Given the description of an element on the screen output the (x, y) to click on. 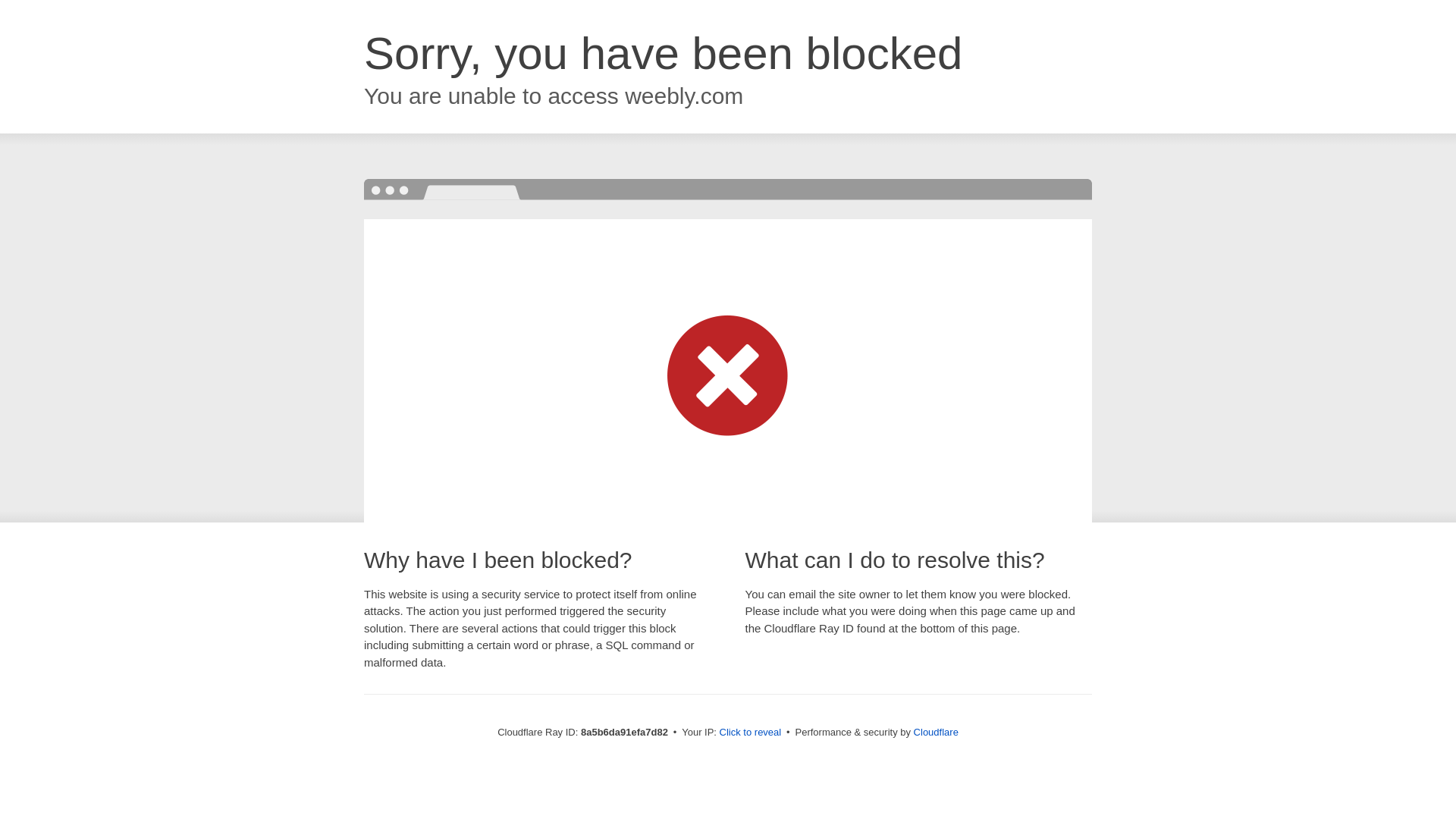
Click to reveal (750, 732)
Cloudflare (936, 731)
